Given the description of an element on the screen output the (x, y) to click on. 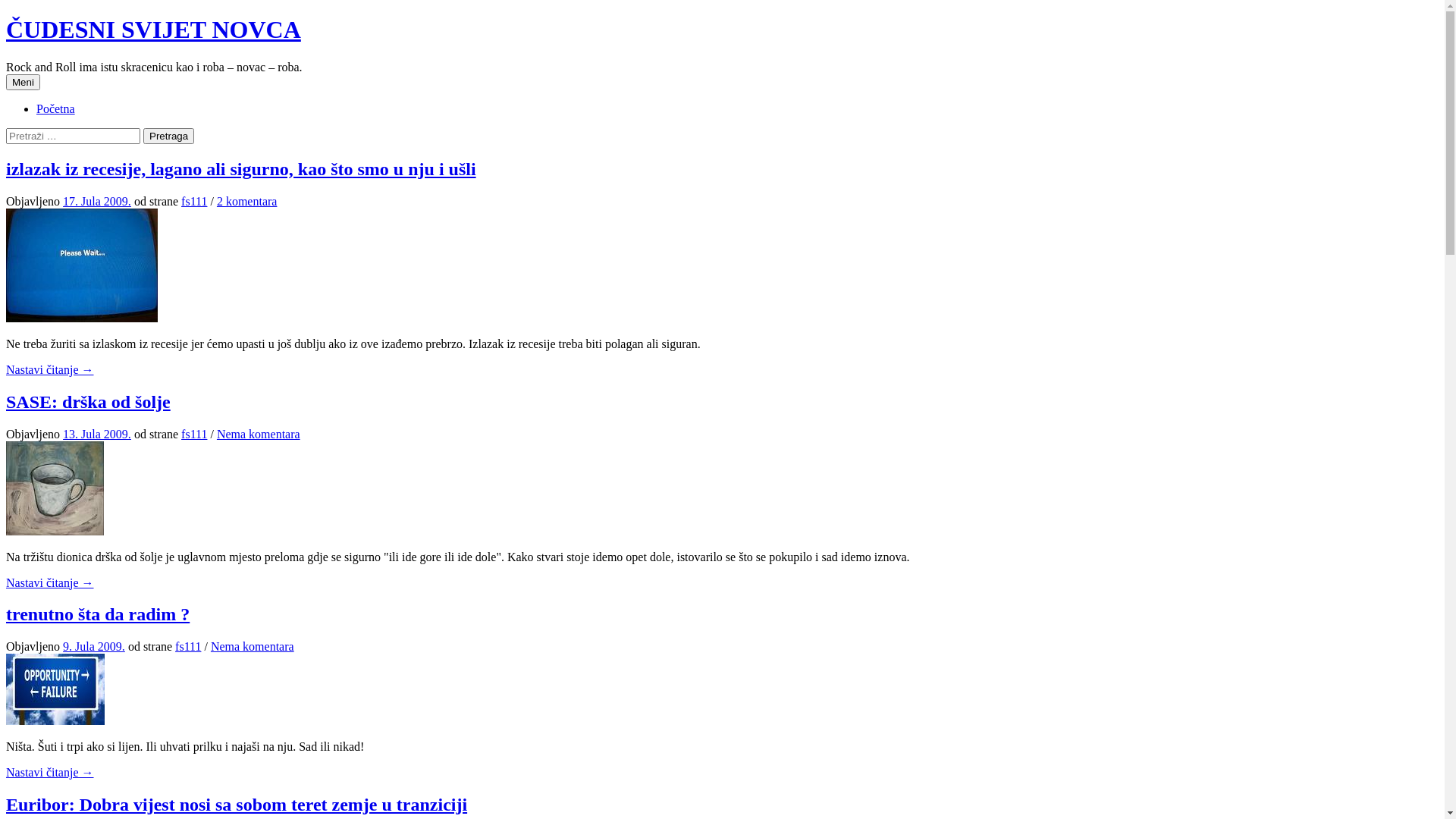
9. Jula 2009. Element type: text (93, 646)
Meni Element type: text (23, 82)
fs111 Element type: text (194, 200)
Euribor: Dobra vijest nosi sa sobom teret zemje u tranziciji Element type: text (236, 804)
17. Jula 2009. Element type: text (96, 200)
fs111 Element type: text (194, 433)
fs111 Element type: text (187, 646)
Pretraga Element type: text (168, 136)
13. Jula 2009. Element type: text (96, 433)
